Given the description of an element on the screen output the (x, y) to click on. 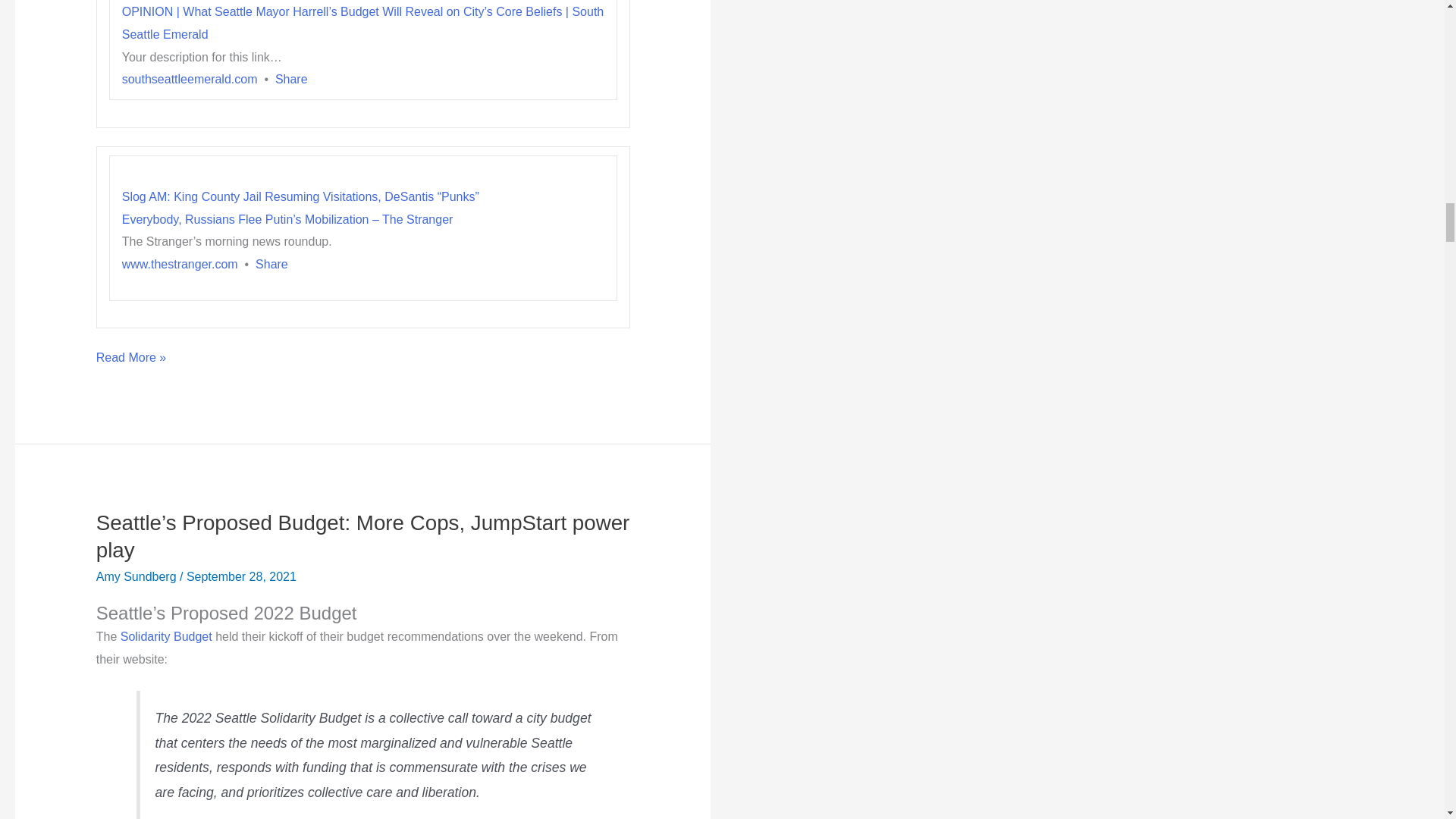
southseattleemerald.com (189, 78)
Share (291, 78)
View all posts by Amy Sundberg (137, 576)
